Given the description of an element on the screen output the (x, y) to click on. 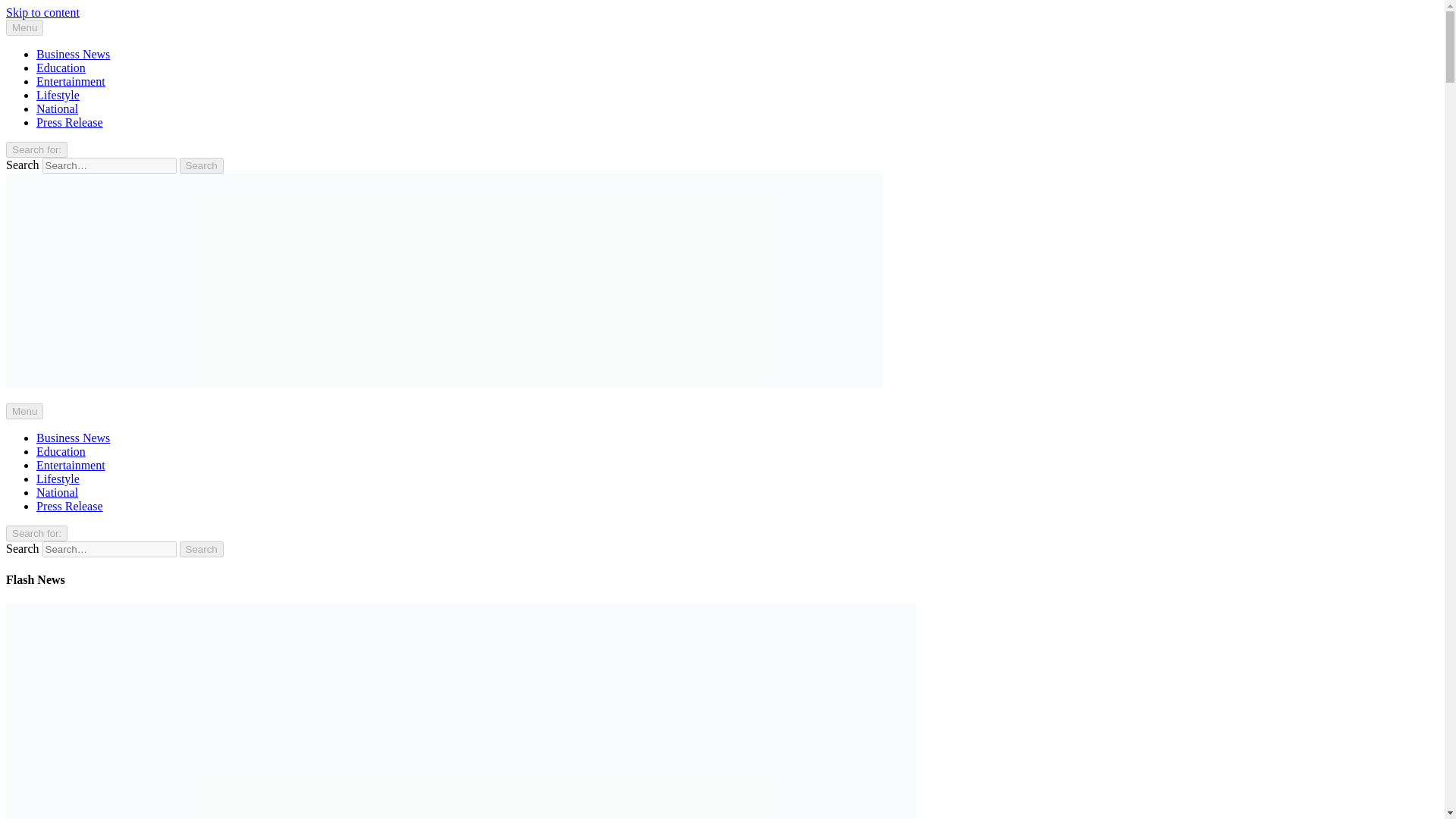
Education (60, 451)
Search (201, 549)
National (57, 108)
Menu (24, 411)
Search (201, 165)
Search (201, 549)
National (57, 492)
Lifestyle (58, 478)
Lifestyle (58, 94)
Press Release (69, 122)
Search (201, 165)
Skip to content (42, 11)
News Daddy (36, 409)
Entertainment (70, 81)
Press Release (69, 505)
